Given the description of an element on the screen output the (x, y) to click on. 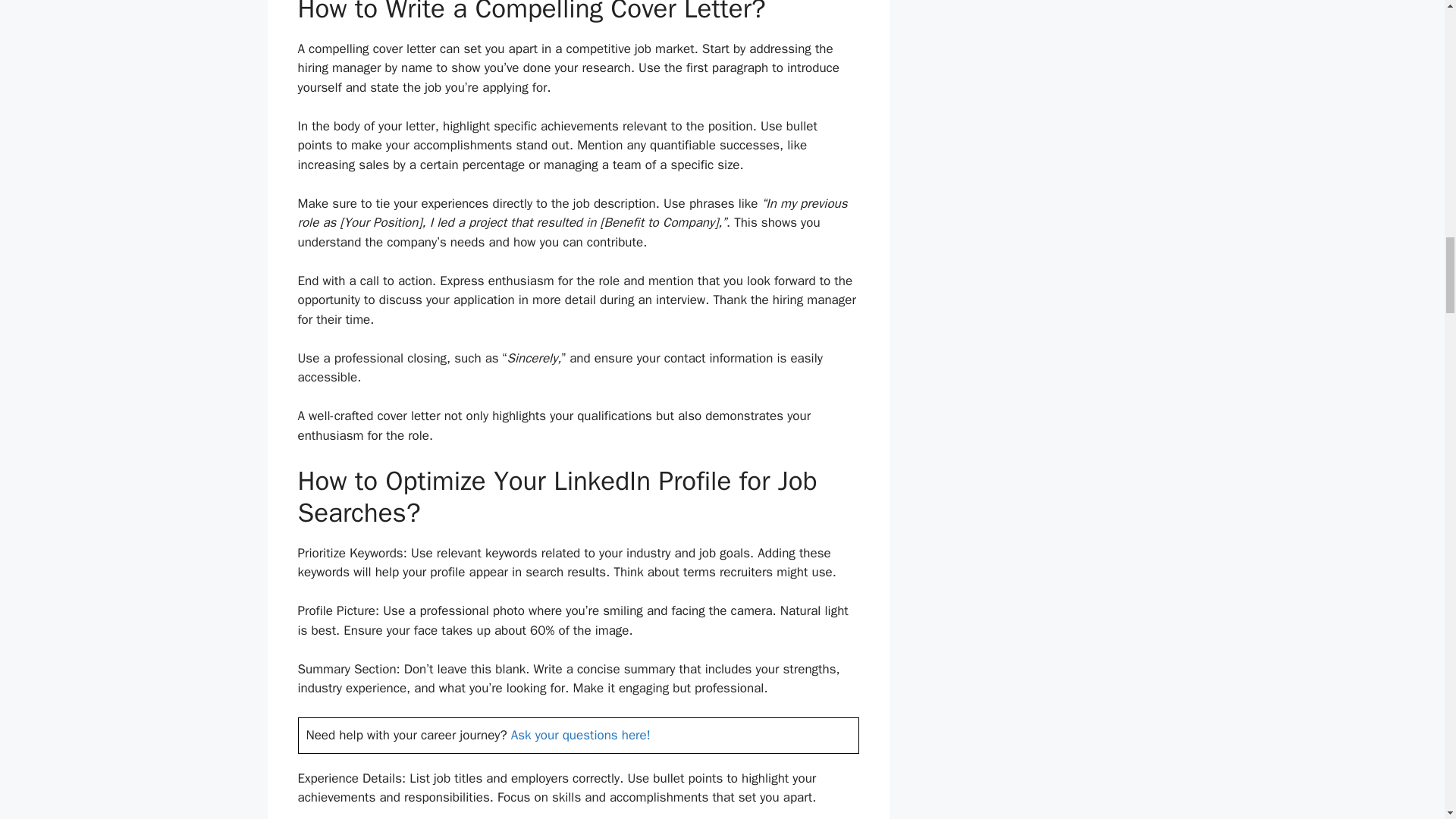
Ask your questions here! (580, 734)
